Given the description of an element on the screen output the (x, y) to click on. 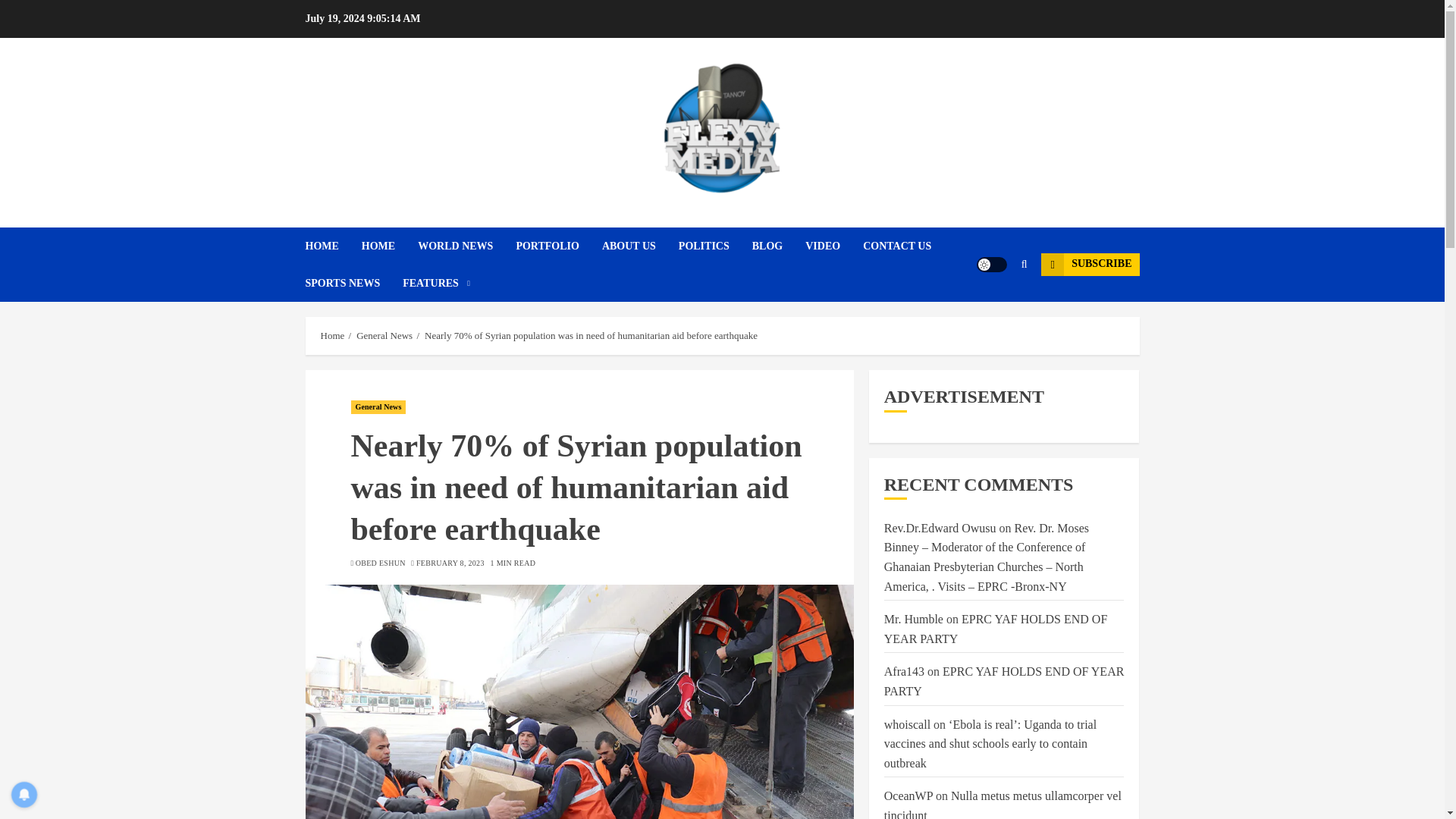
ABOUT US (640, 245)
Home (331, 336)
CONTACT US (908, 245)
HOME (389, 245)
BLOG (778, 245)
FEBRUARY 8, 2023 (450, 562)
SUBSCRIBE (1089, 264)
Search (994, 309)
HOME (332, 245)
General News (378, 407)
Search (1023, 264)
OBED ESHUN (380, 562)
VIDEO (834, 245)
WORLD NEWS (466, 245)
FEATURES (436, 283)
